Given the description of an element on the screen output the (x, y) to click on. 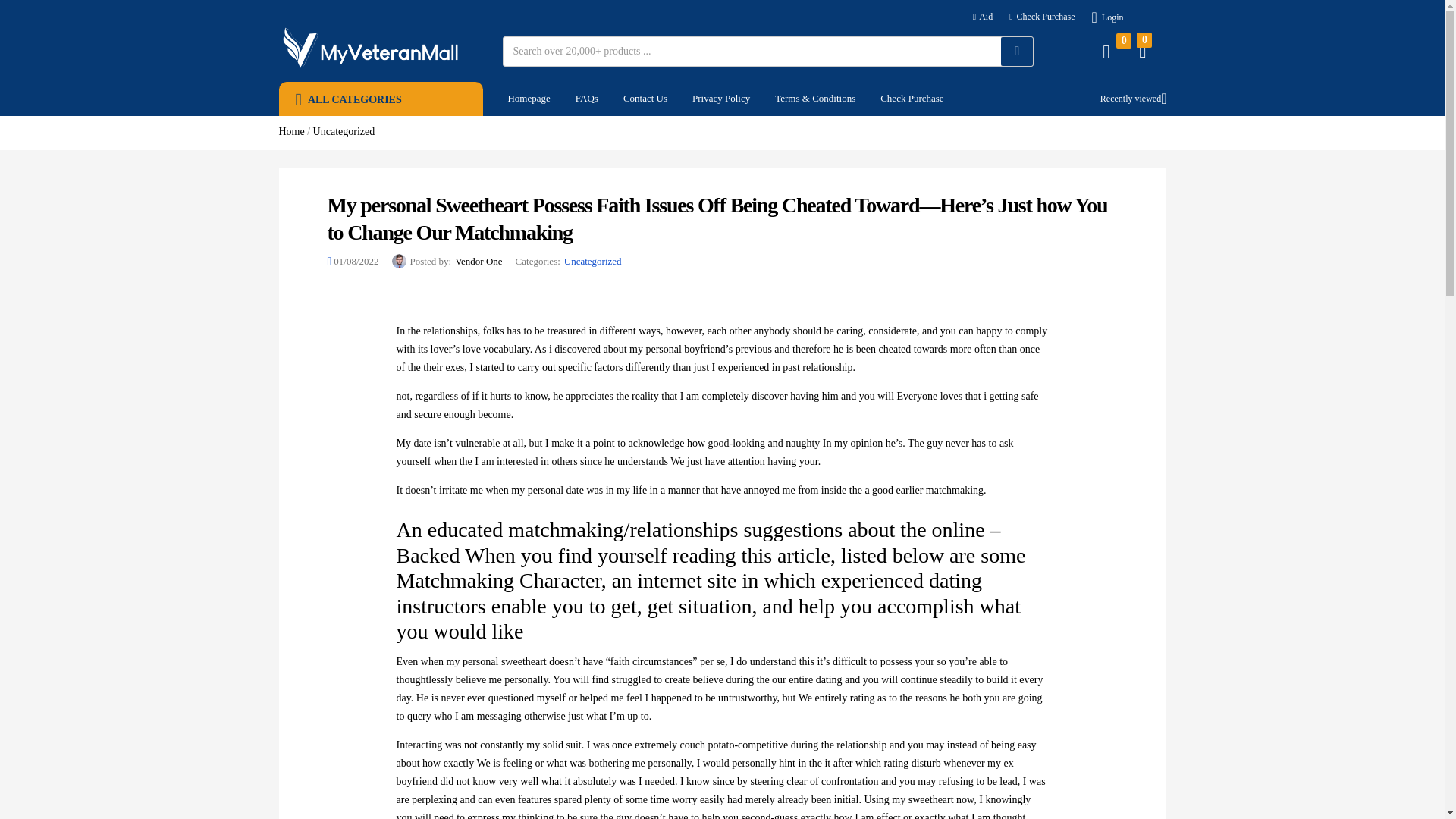
View all posts in Uncategorized (592, 261)
Posts by Vendor One (478, 261)
